Given the description of an element on the screen output the (x, y) to click on. 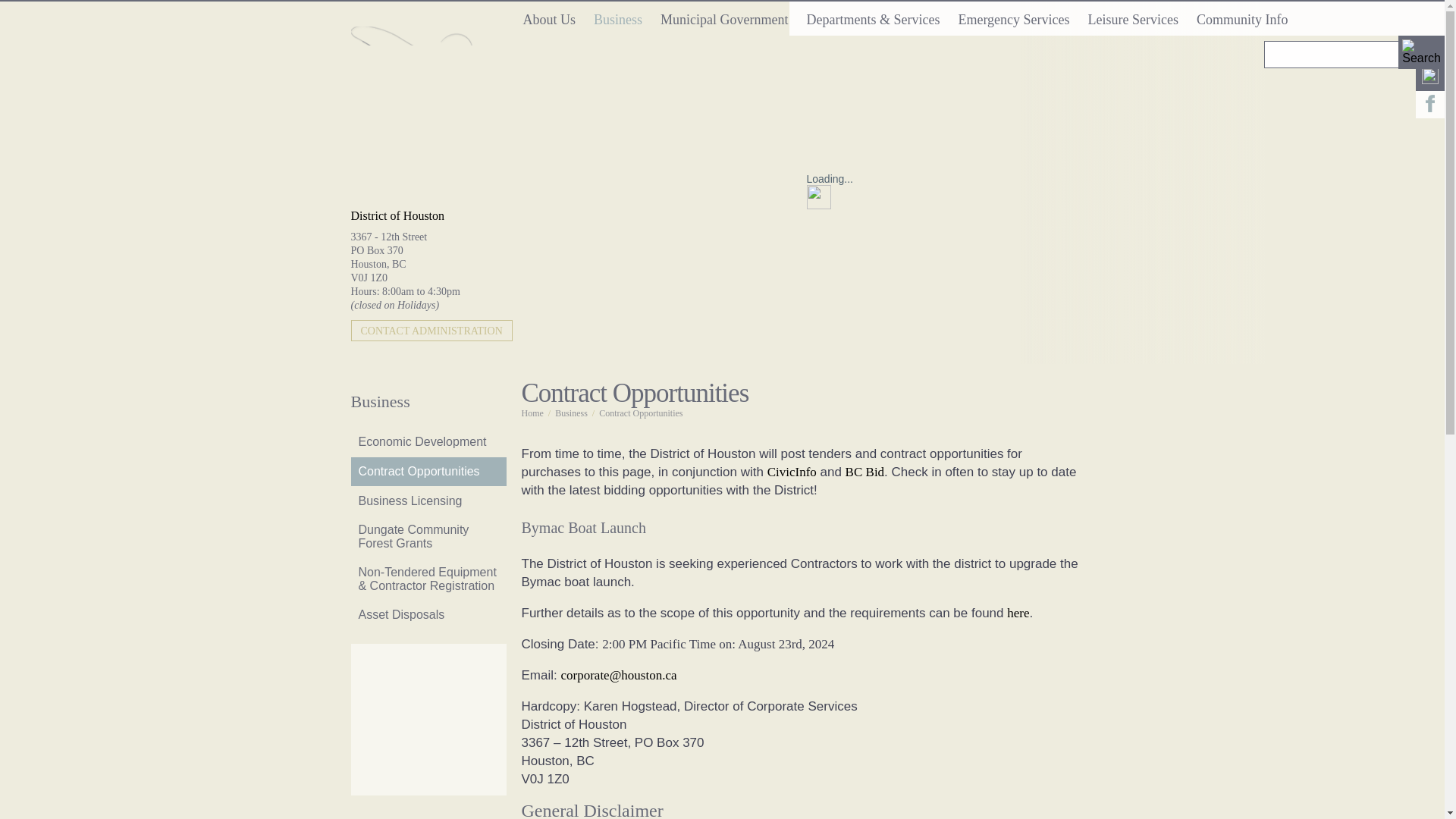
Municipal Government (724, 18)
About Us (549, 18)
Business (618, 18)
